Given the description of an element on the screen output the (x, y) to click on. 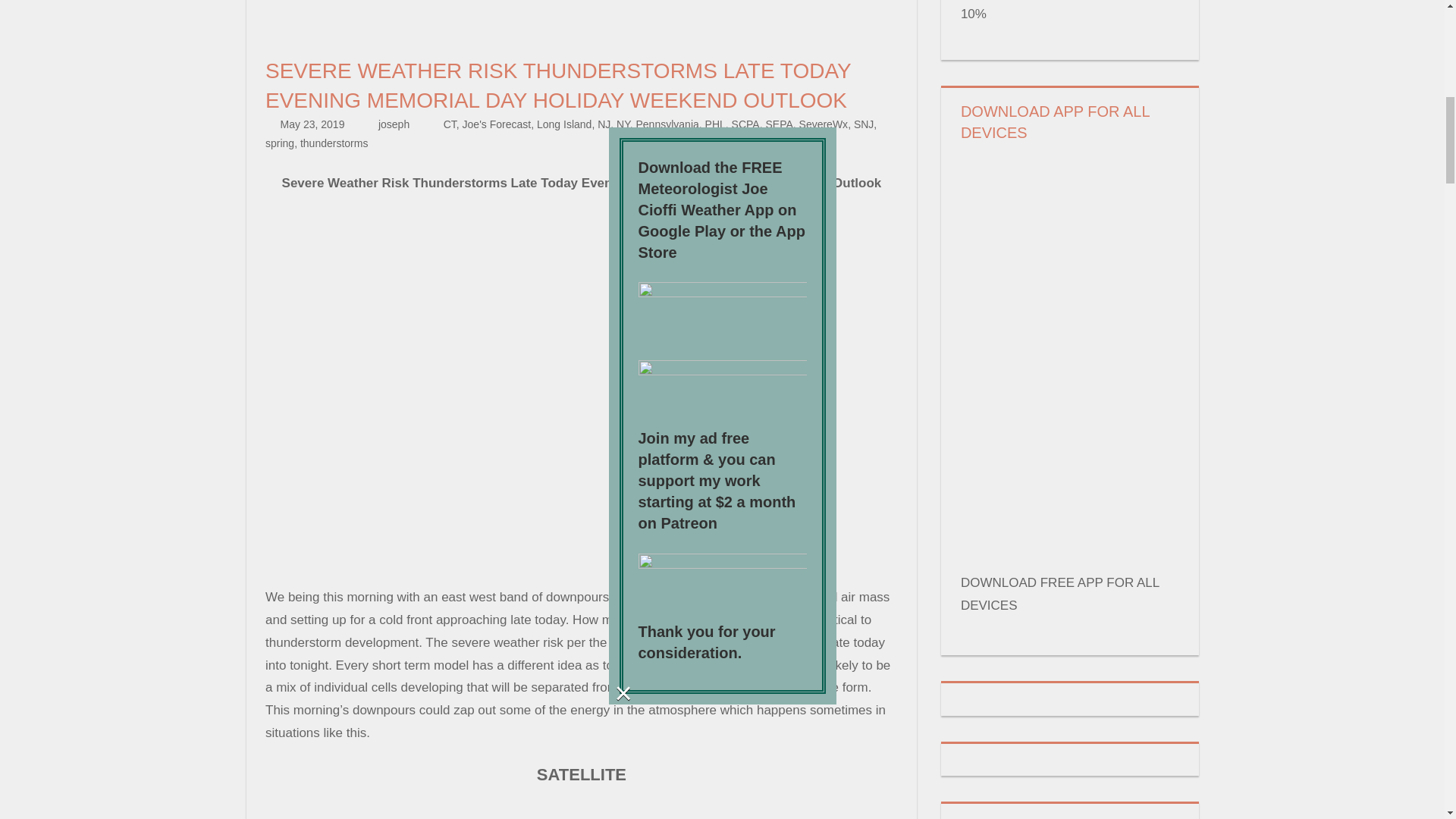
PHL (714, 123)
Long Island (564, 123)
NY (622, 123)
SCPA (746, 123)
Pennsylvania (666, 123)
May 23, 2019 (313, 123)
Joe's Forecast (497, 123)
joseph (393, 123)
View all posts by joseph (393, 123)
NJ (603, 123)
